Given the description of an element on the screen output the (x, y) to click on. 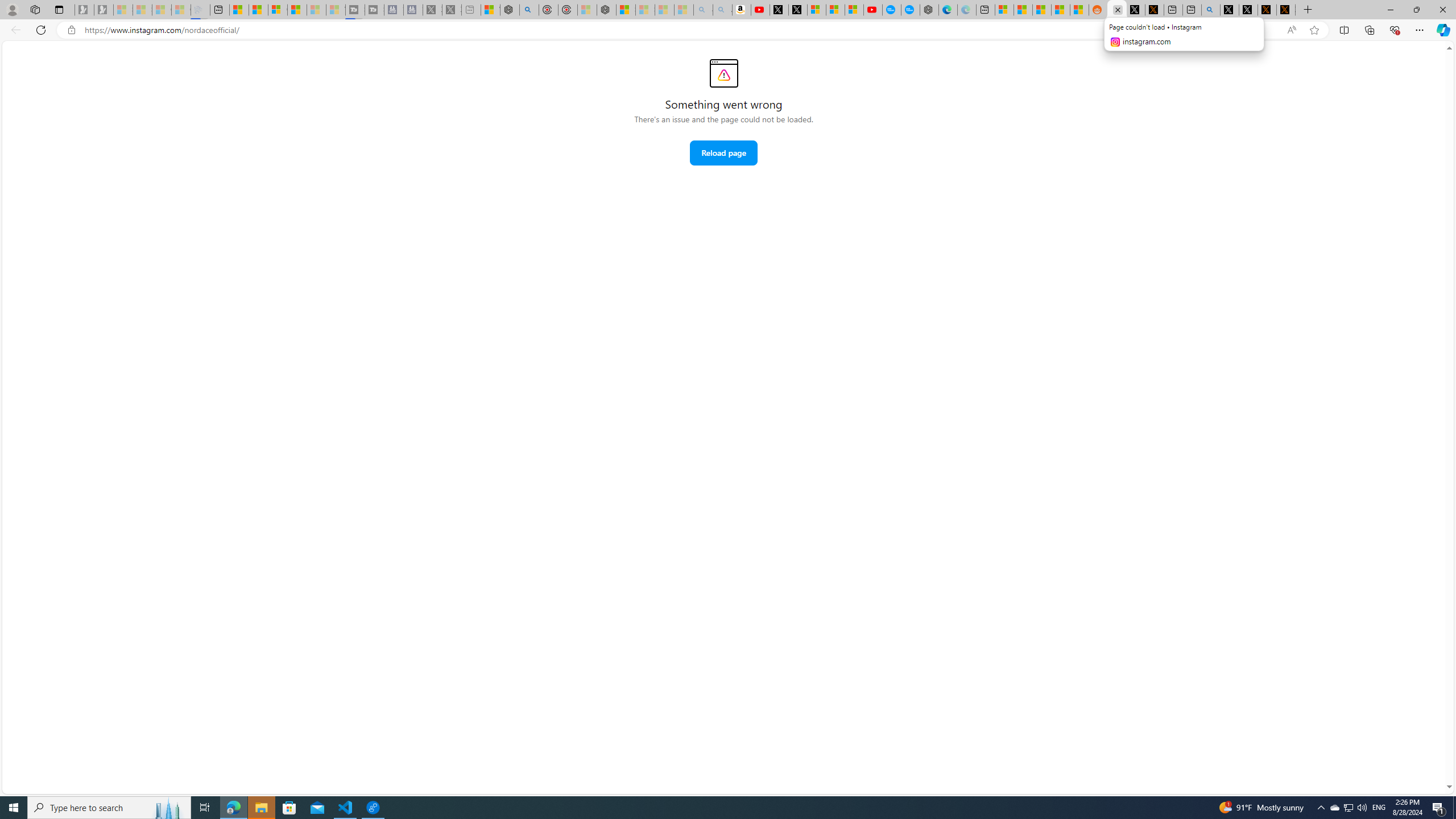
Nordace - Nordace Siena Is Not An Ordinary Backpack (606, 9)
